Given the description of an element on the screen output the (x, y) to click on. 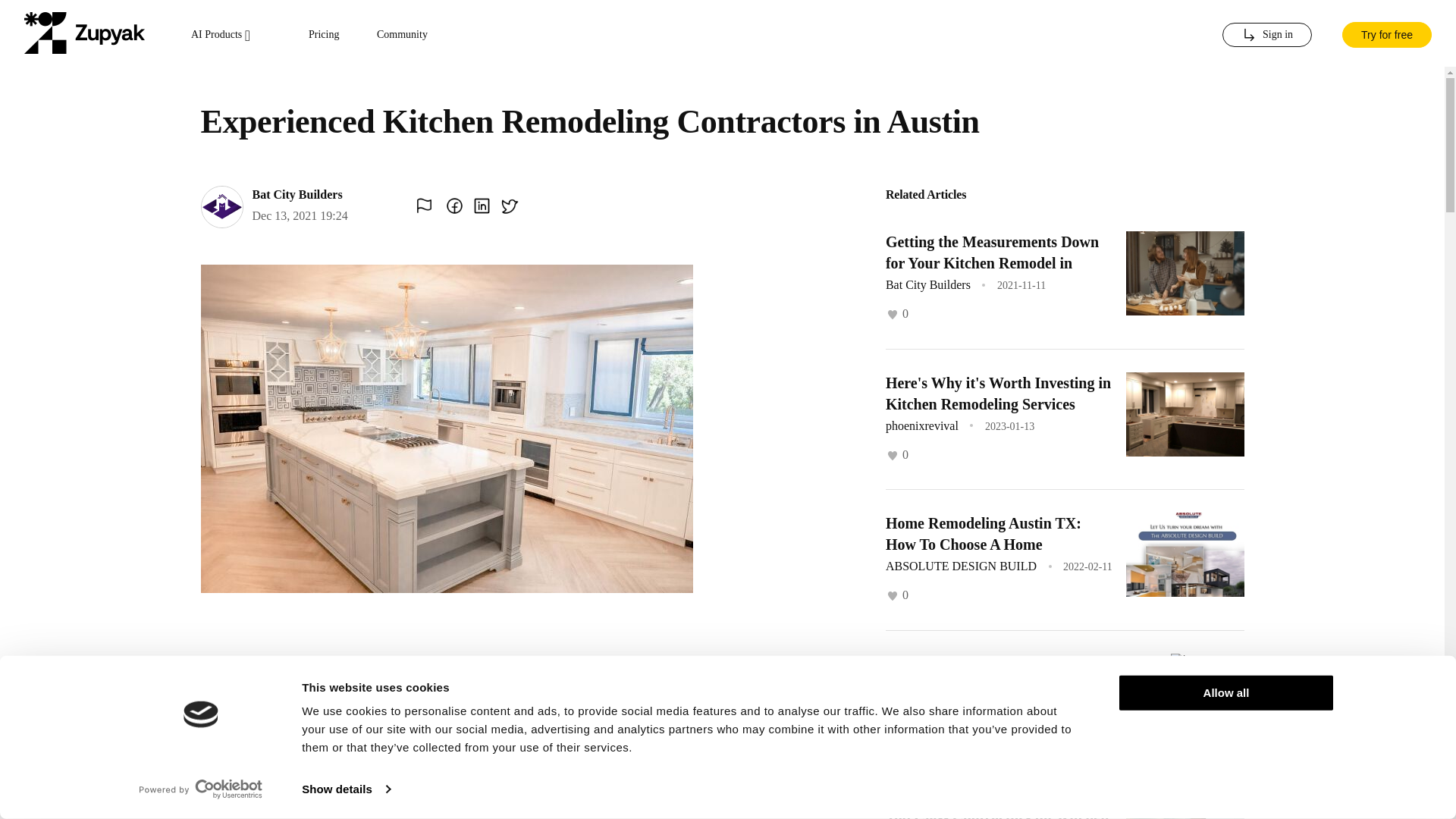
Show details (345, 789)
